Given the description of an element on the screen output the (x, y) to click on. 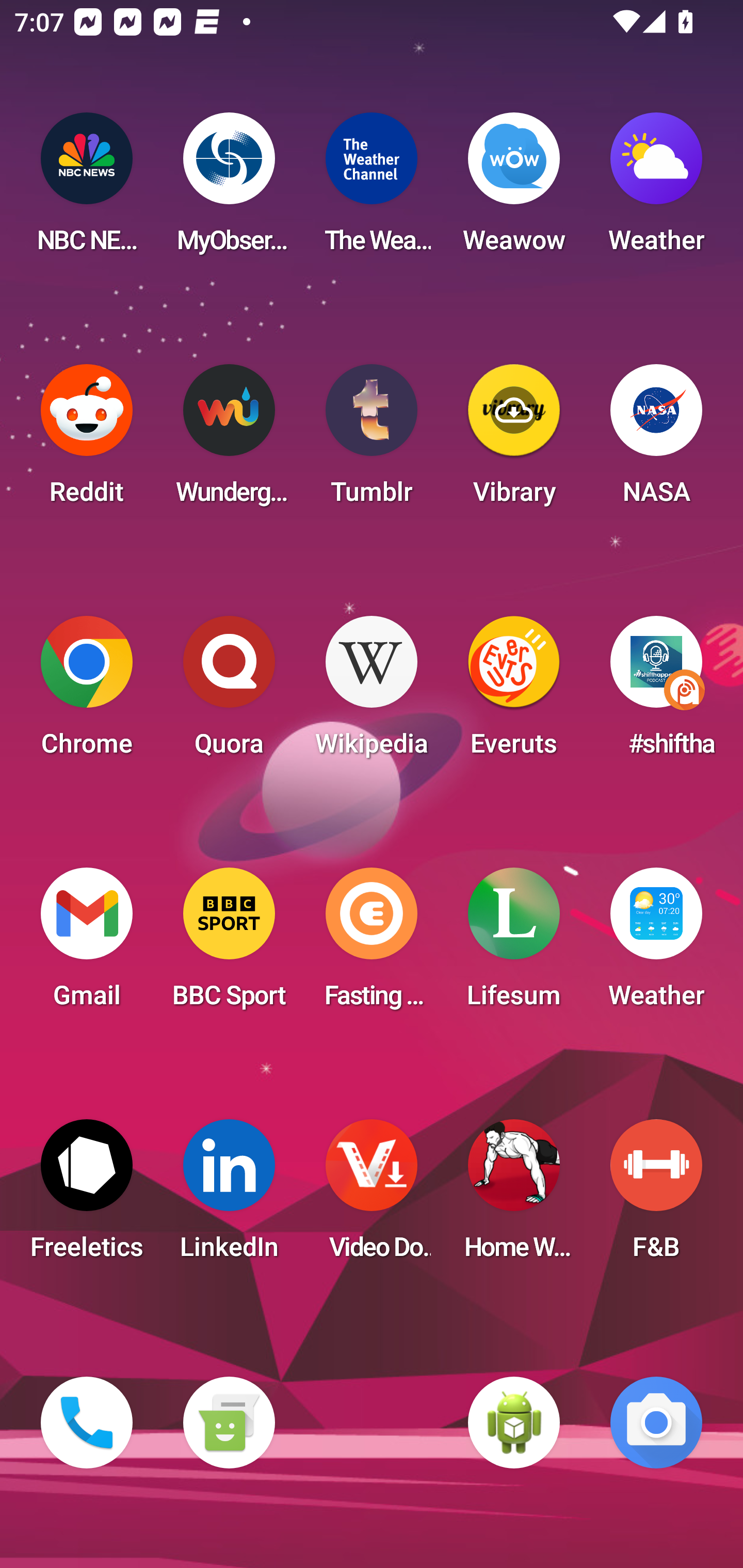
NBC NEWS (86, 188)
MyObservatory (228, 188)
The Weather Channel (371, 188)
Weawow (513, 188)
Weather (656, 188)
Reddit (86, 440)
Wunderground (228, 440)
Tumblr (371, 440)
Vibrary (513, 440)
NASA (656, 440)
Chrome (86, 692)
Quora (228, 692)
Wikipedia (371, 692)
Everuts (513, 692)
#shifthappens in the Digital Workplace Podcast (656, 692)
Gmail (86, 943)
BBC Sport (228, 943)
Fasting Coach (371, 943)
Lifesum (513, 943)
Weather (656, 943)
Freeletics (86, 1195)
LinkedIn (228, 1195)
Video Downloader & Ace Player (371, 1195)
Home Workout (513, 1195)
F&B (656, 1195)
Phone (86, 1422)
Messaging (228, 1422)
WebView Browser Tester (513, 1422)
Camera (656, 1422)
